Given the description of an element on the screen output the (x, y) to click on. 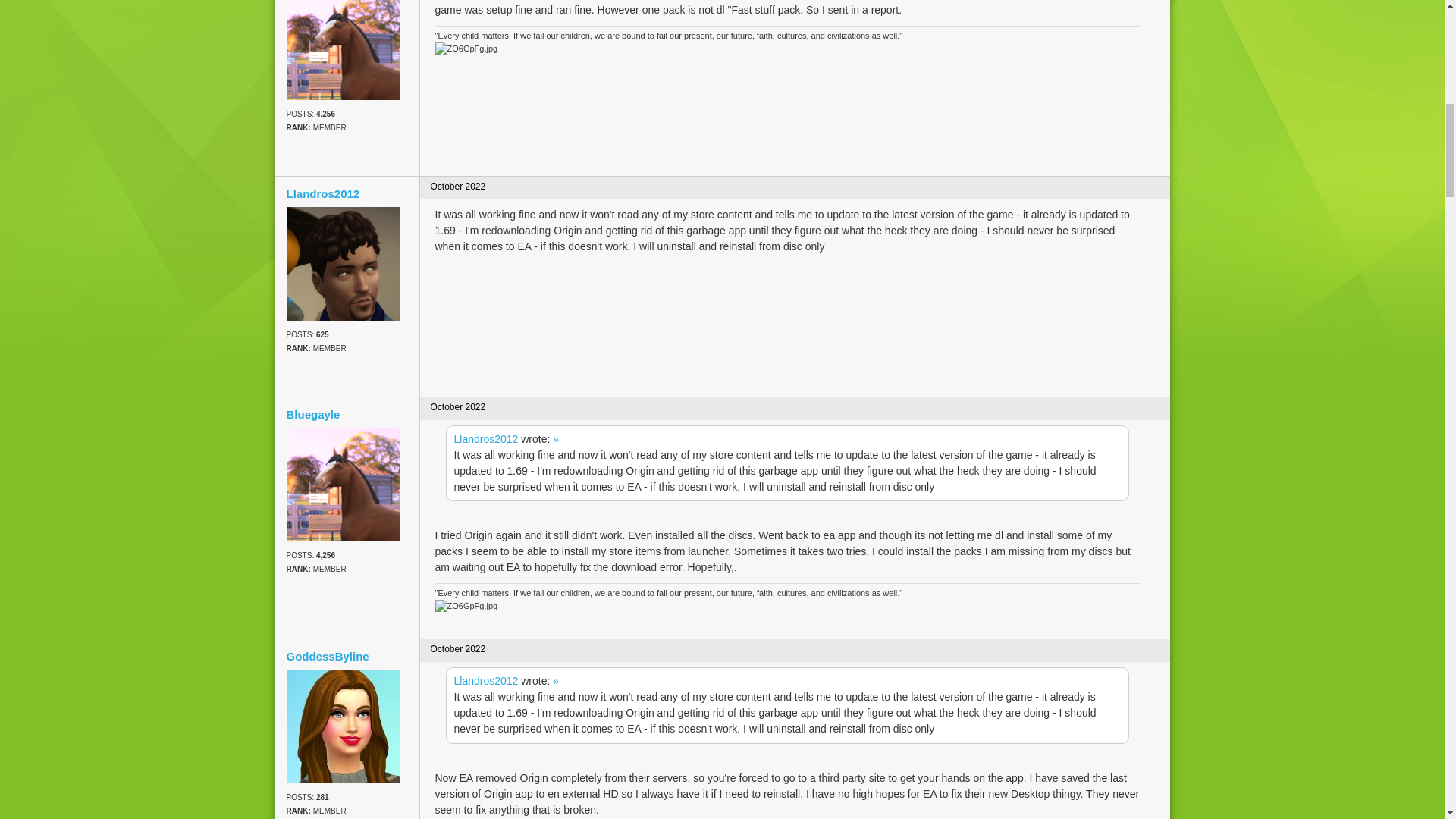
Member (346, 348)
October 21, 2022 3:51PM (458, 185)
Member (346, 569)
Bluegayle (343, 49)
October 2022 (458, 185)
Member (346, 127)
GoddessByline (343, 725)
Llandros2012 (485, 439)
Llandros2012 (346, 193)
Bluegayle (343, 484)
